Given the description of an element on the screen output the (x, y) to click on. 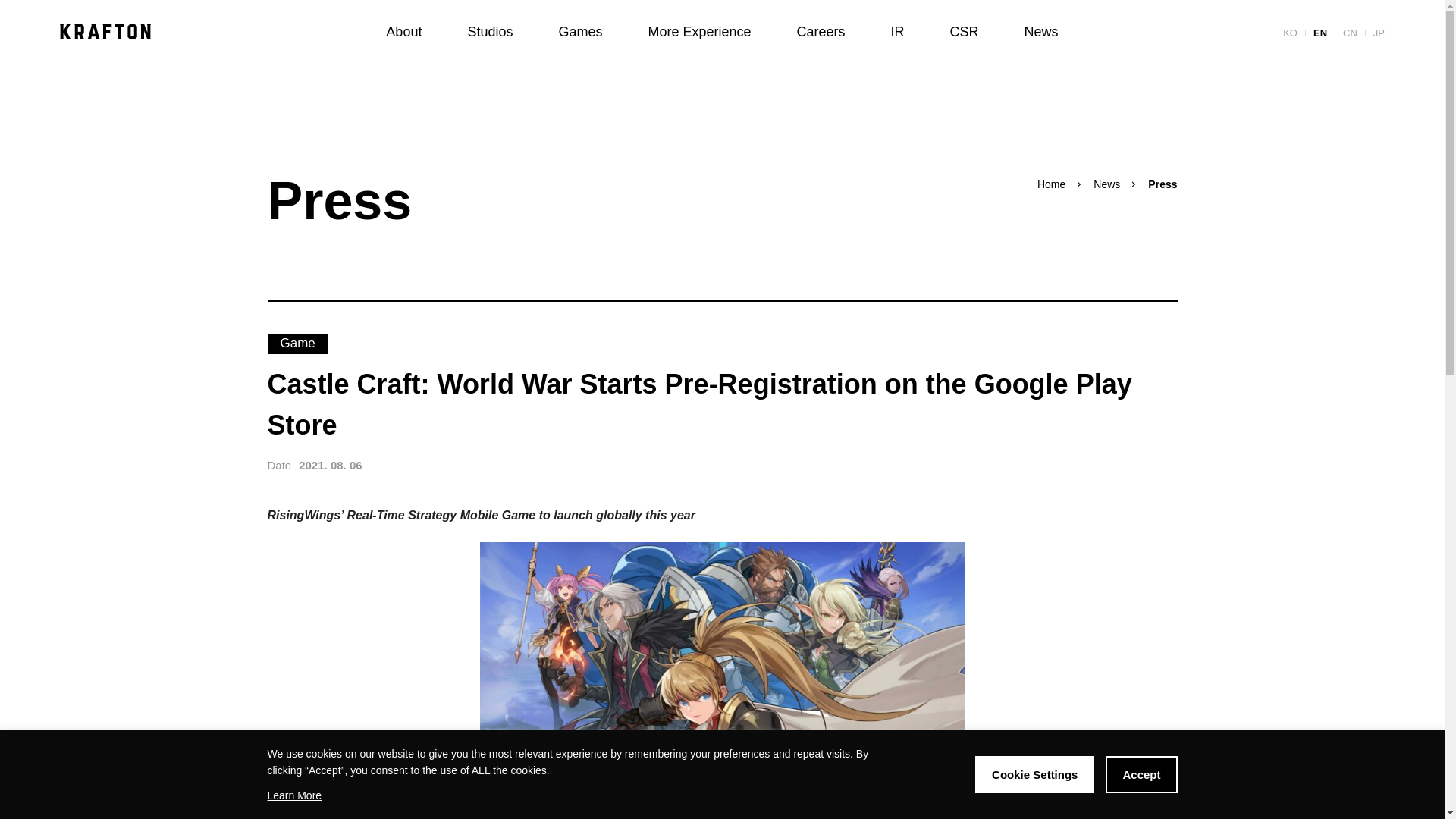
News (1041, 31)
CSR (964, 31)
IR (897, 31)
KRAFTON (105, 31)
KO (1289, 32)
Games (579, 31)
EN (1319, 32)
About (403, 31)
More Experience (698, 31)
Careers (820, 31)
Studios (489, 31)
CN (1349, 32)
